Given the description of an element on the screen output the (x, y) to click on. 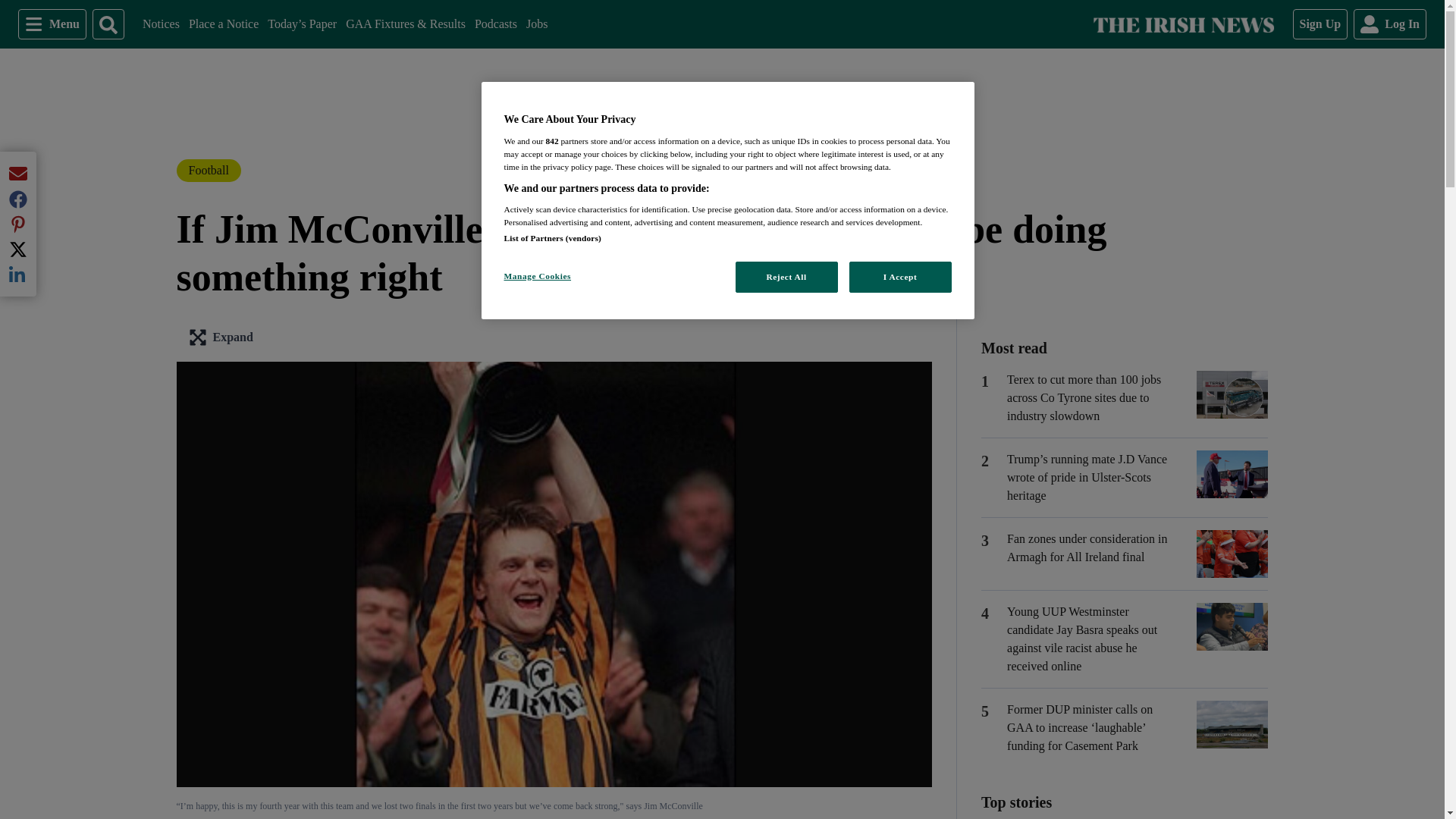
Menu (51, 24)
Podcasts (495, 24)
Log In (536, 24)
Sign Up (1390, 24)
The Irish News (1320, 24)
